Given the description of an element on the screen output the (x, y) to click on. 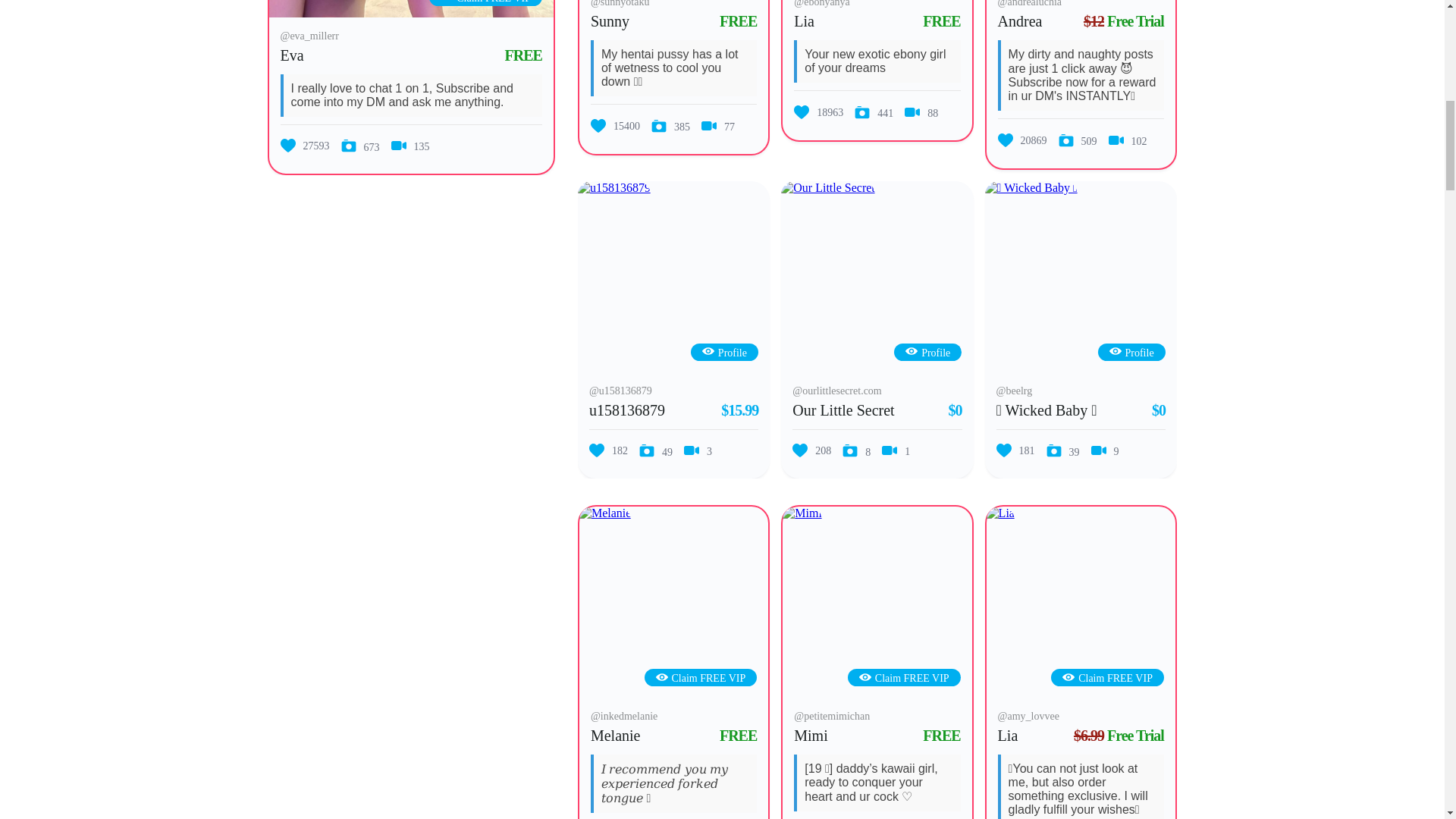
Eva (292, 55)
Sunny (609, 20)
Lia (803, 20)
beelrg (1031, 187)
u158136879 (614, 187)
petitemimichan (802, 513)
Profile (723, 353)
Andrea (1019, 20)
ourlittlesecret.com (827, 187)
Claim FREE VIP (486, 2)
inkedmelanie (604, 513)
